Given the description of an element on the screen output the (x, y) to click on. 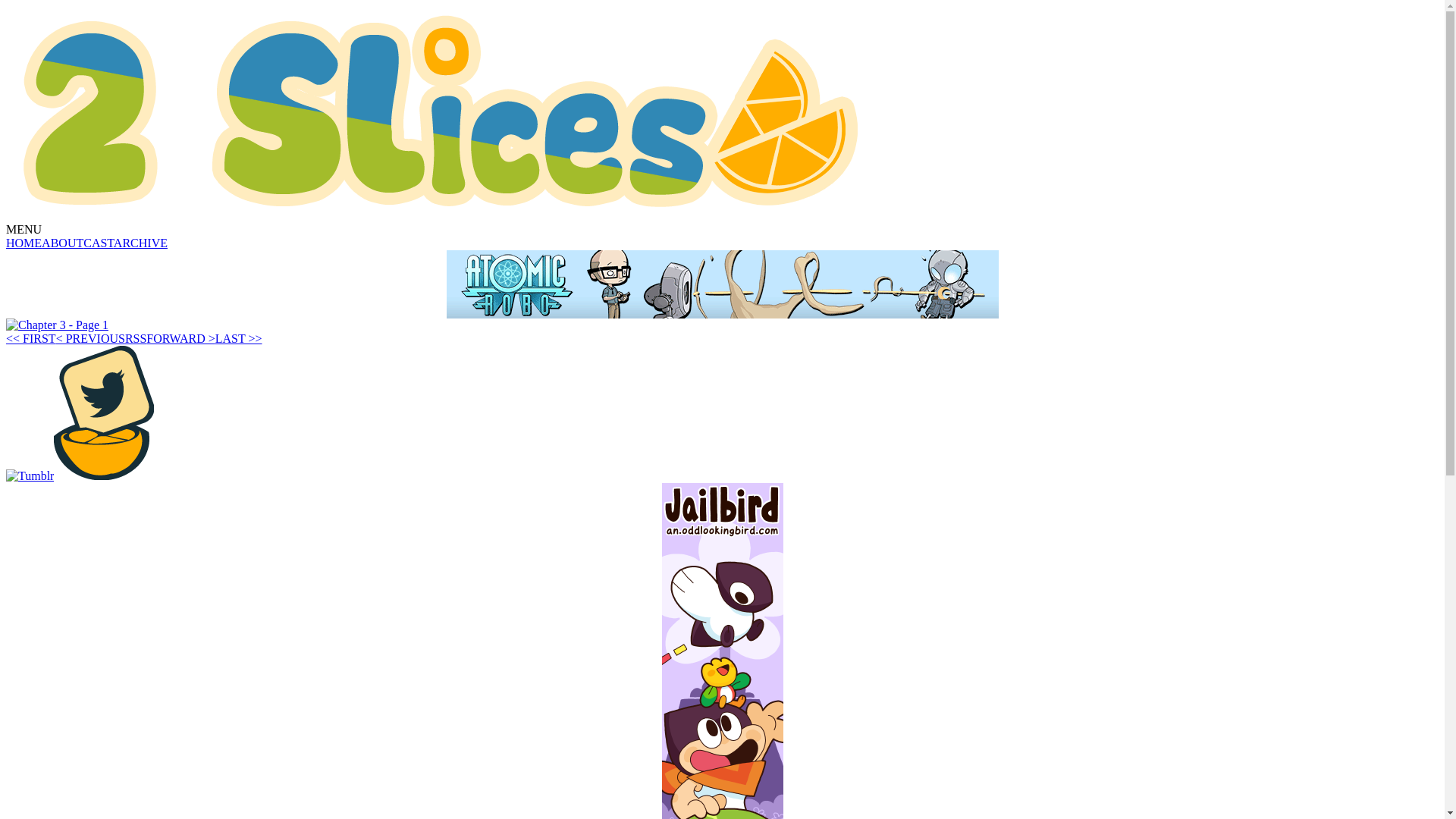
ABOUT Element type: text (62, 242)
Alchemilla Element type: hover (442, 112)
Tumblr Element type: hover (29, 476)
< PREVIOUS Element type: text (90, 338)
Twitter Element type: hover (103, 412)
Chapter 3 - Page 1 Element type: hover (57, 325)
HOME Element type: text (23, 242)
CAST Element type: text (98, 242)
ARCHIVE Element type: text (140, 242)
LAST >> Element type: text (238, 338)
FORWARD > Element type: text (180, 338)
RSS Element type: text (135, 338)
<< FIRST Element type: text (31, 338)
